Given the description of an element on the screen output the (x, y) to click on. 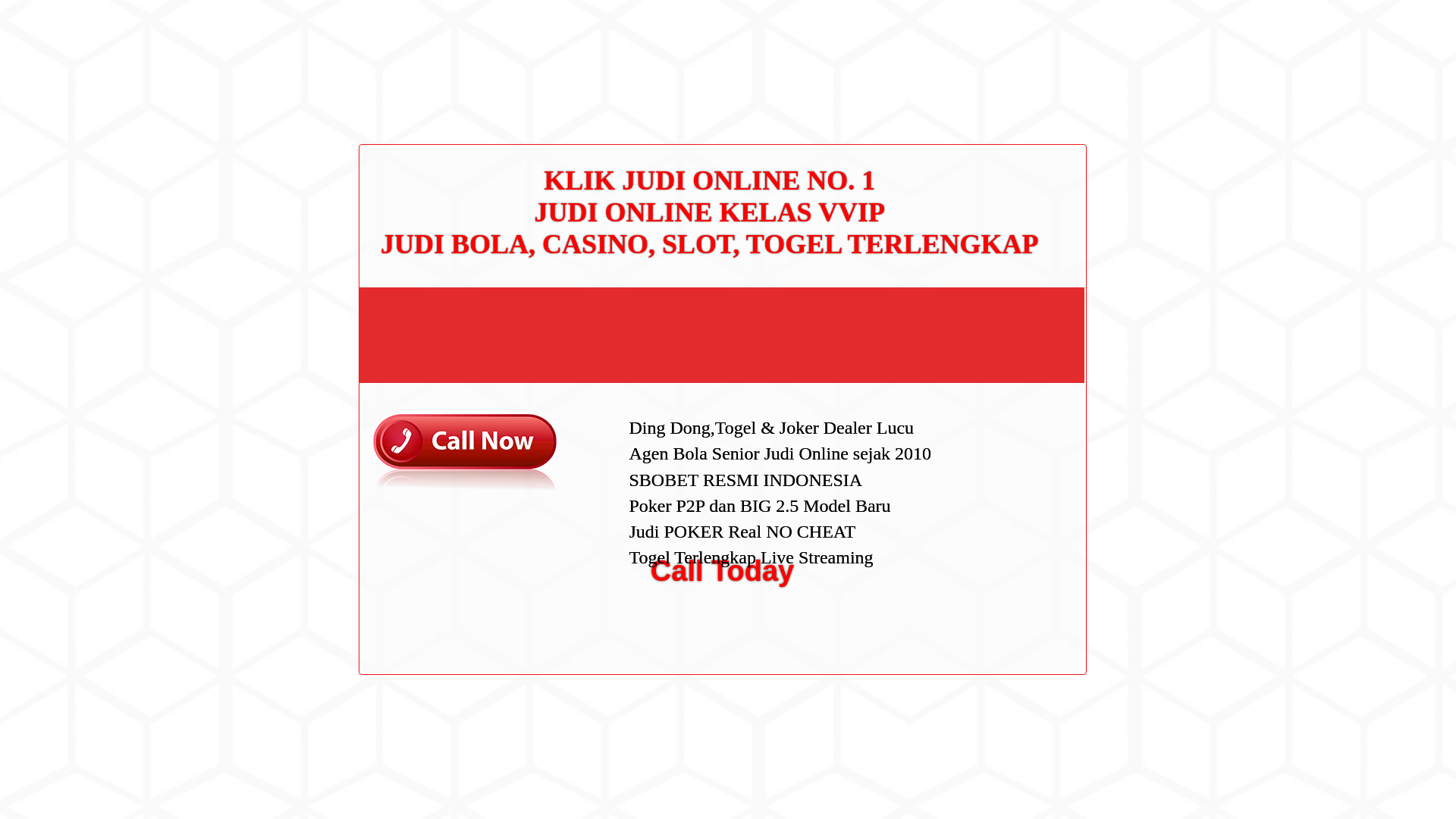
Search (1050, 85)
Blog (976, 510)
Terms of Use (996, 330)
Log in (980, 588)
Latest Article (996, 172)
RSS (977, 612)
Disclaimer (990, 354)
Skip to content (34, 9)
Search (1050, 85)
ADMINISTRATOR (417, 81)
Privacy Policy (999, 306)
Contact Us (991, 258)
DMCA Policy (996, 282)
KANONSPORTS.COM (403, 28)
Search (1050, 85)
